Given the description of an element on the screen output the (x, y) to click on. 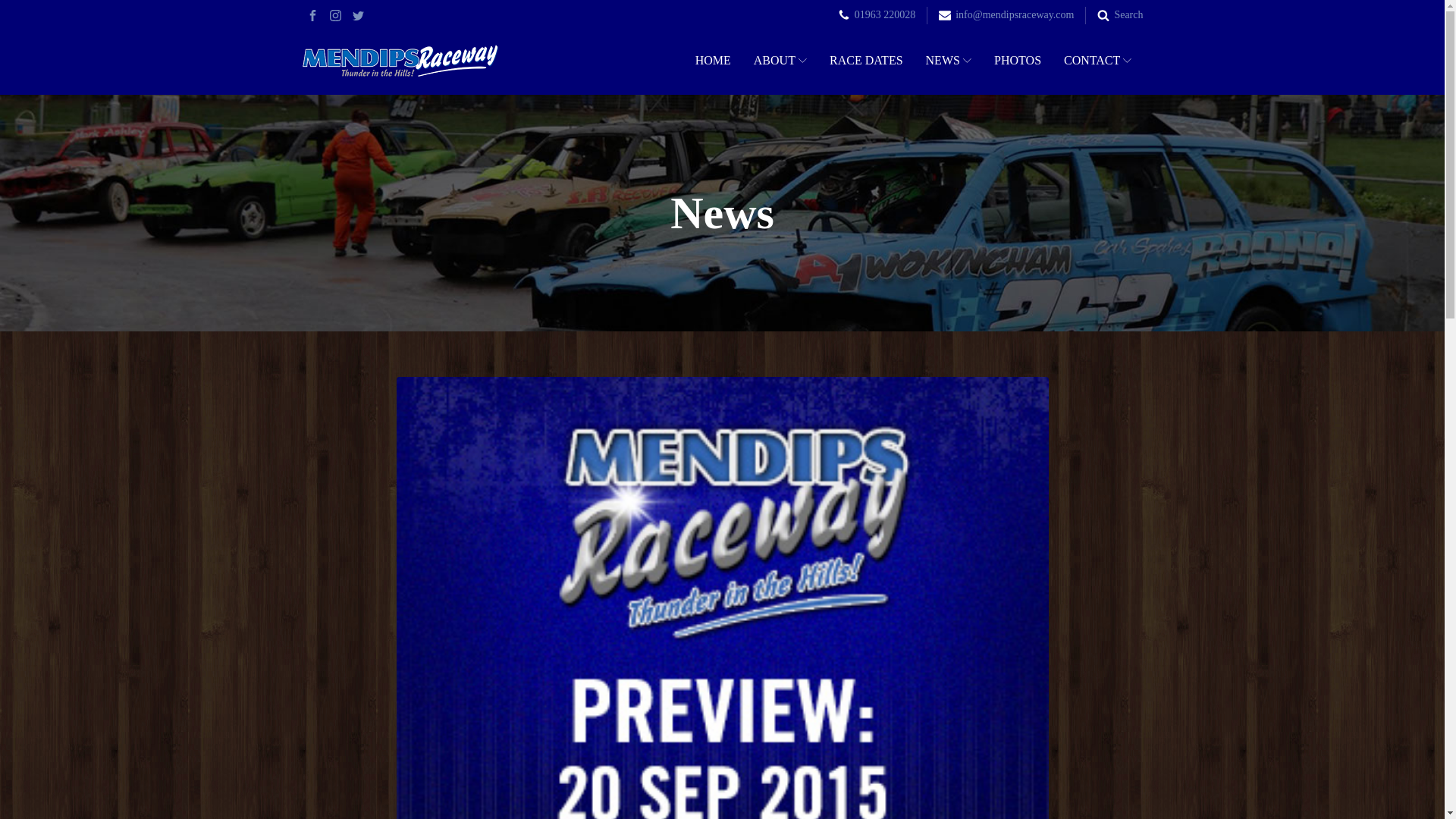
Search (1127, 14)
01963 220028 (884, 14)
RACE DATES (866, 60)
CONTACT (1097, 60)
PHOTOS (1017, 60)
ABOUT (780, 60)
NEWS (949, 60)
